Given the description of an element on the screen output the (x, y) to click on. 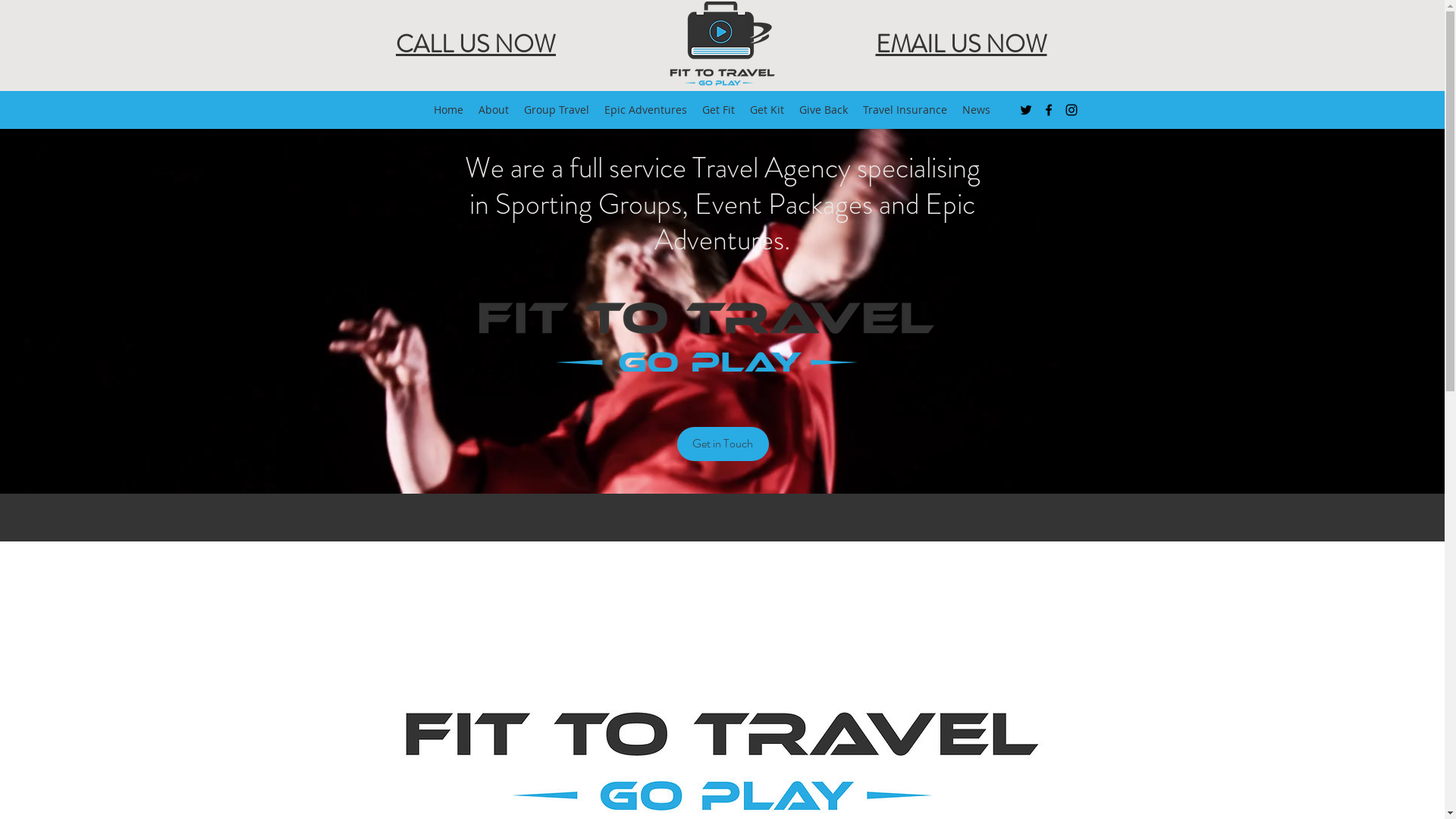
News Element type: text (975, 109)
About Element type: text (493, 109)
Epic Adventures Element type: text (645, 109)
Give Back Element type: text (823, 109)
Group Travel Element type: text (556, 109)
Home Element type: text (448, 109)
Get Kit Element type: text (766, 109)
Travel Insurance Element type: text (904, 109)
EMAIL US NOW Element type: text (960, 43)
CALL US NOW Element type: text (475, 43)
Get Fit Element type: text (718, 109)
Get in Touch Element type: text (722, 443)
